Given the description of an element on the screen output the (x, y) to click on. 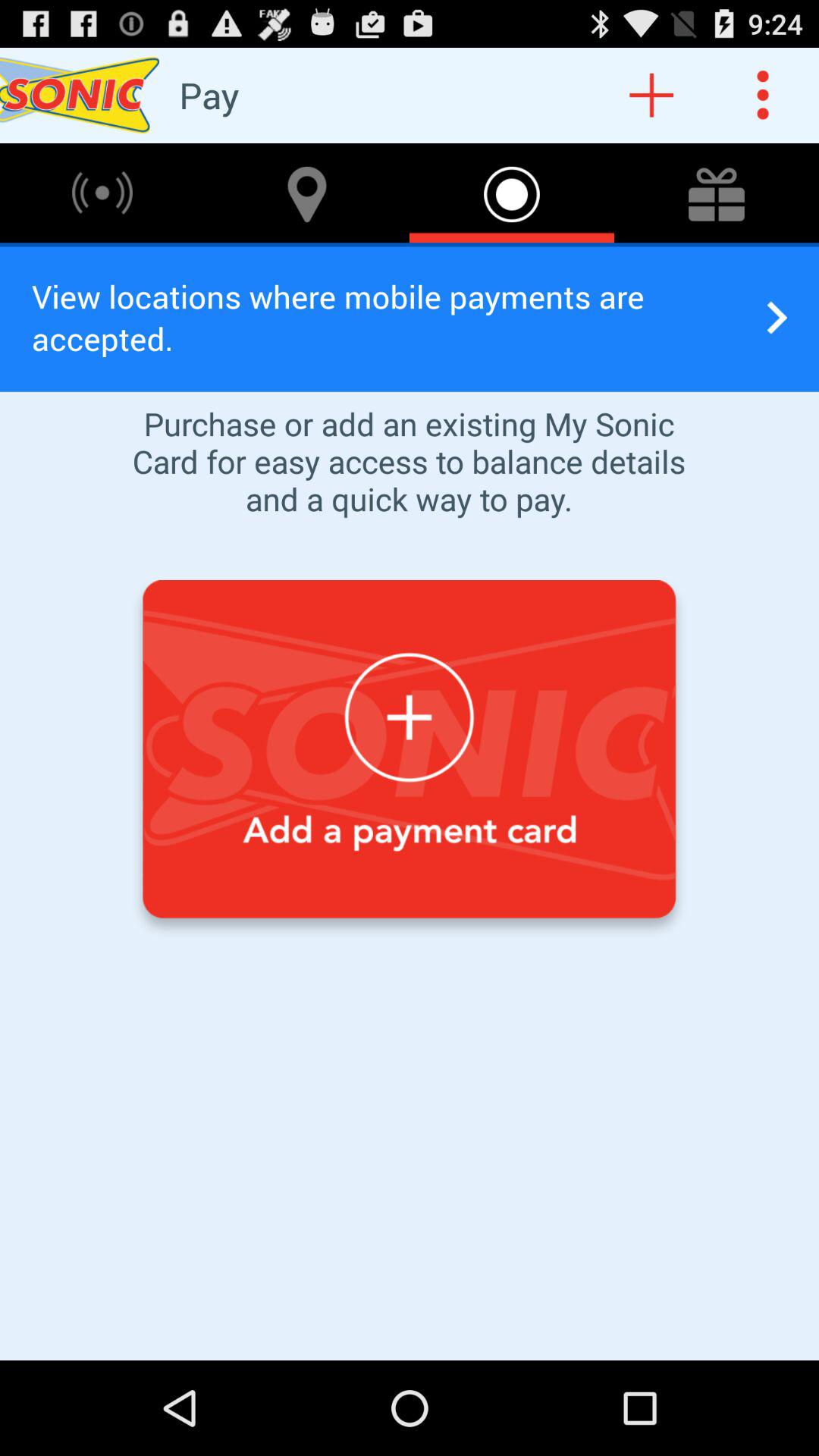
go to third option in first row (511, 192)
select the icon on top arrow icon (716, 192)
click on the add icon on the top right of the page (651, 95)
